Given the description of an element on the screen output the (x, y) to click on. 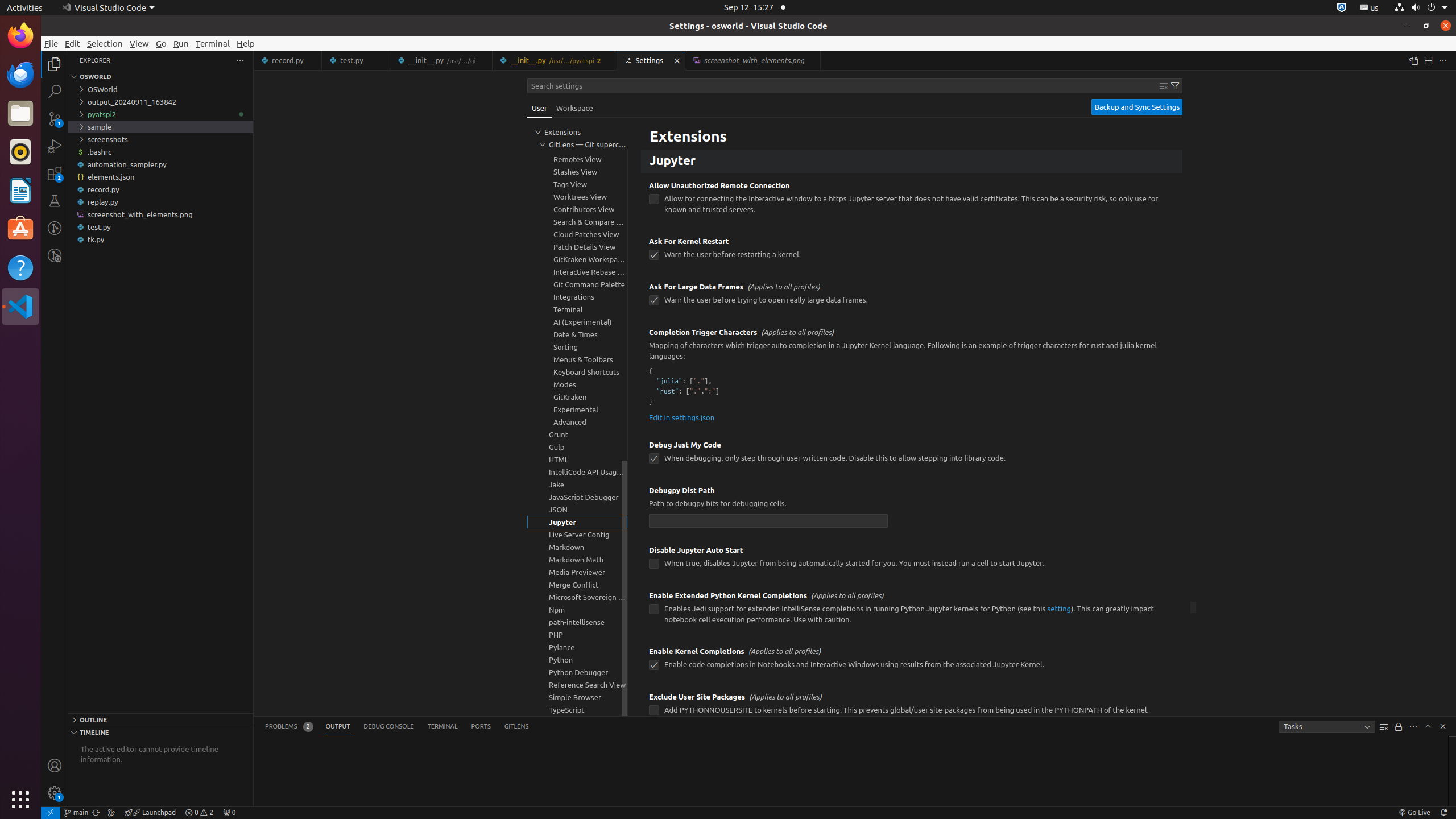
Workspace Element type: check-box (574, 107)
Testing Element type: page-tab (54, 200)
Markdown Math, group Element type: tree-item (577, 559)
Tags View, group Element type: tree-item (577, 184)
